Given the description of an element on the screen output the (x, y) to click on. 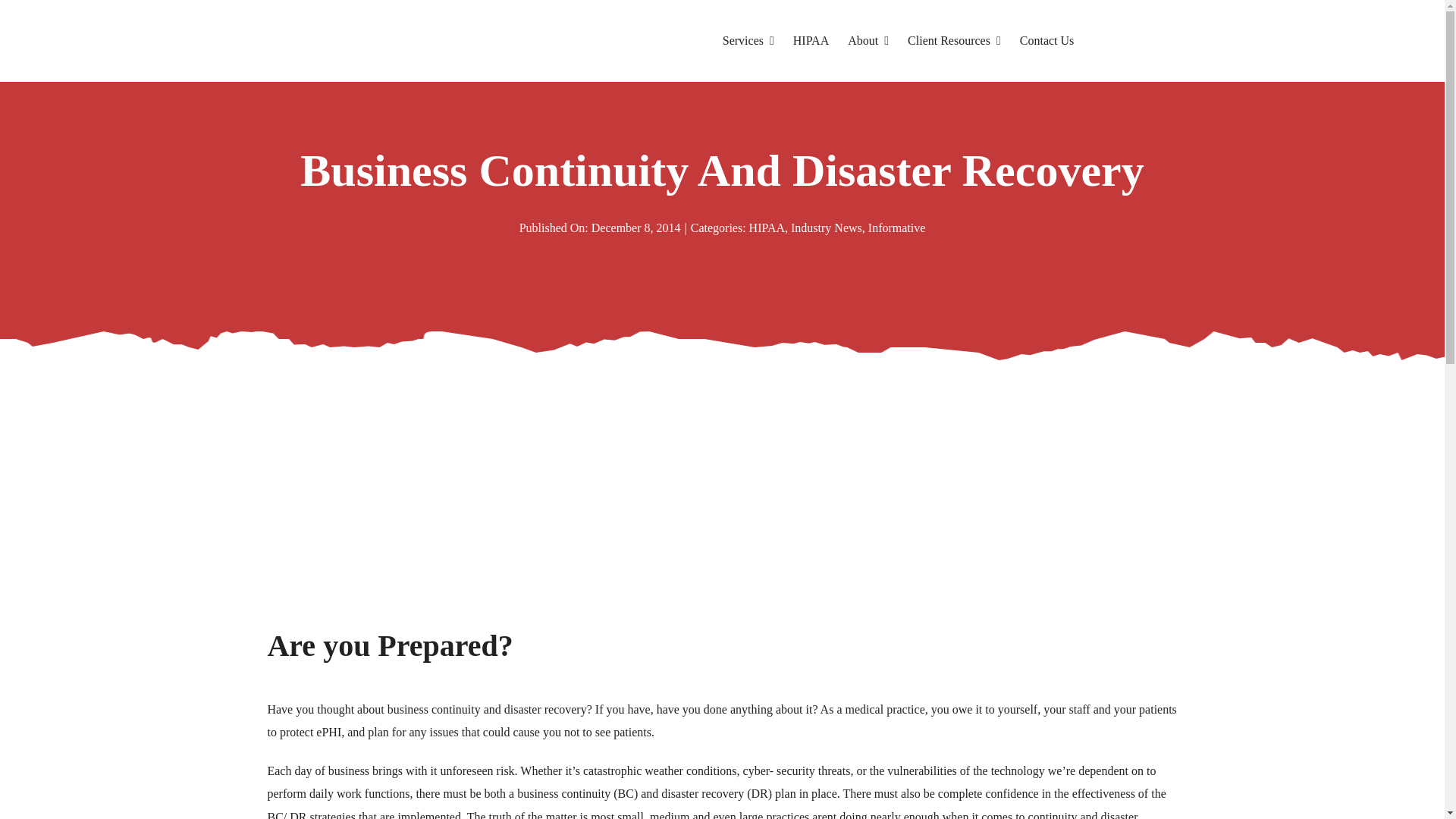
Industry News (825, 227)
Client Resources (954, 40)
Contact Us (1047, 40)
HIPAA (766, 227)
Services (748, 40)
Informative (896, 227)
